Given the description of an element on the screen output the (x, y) to click on. 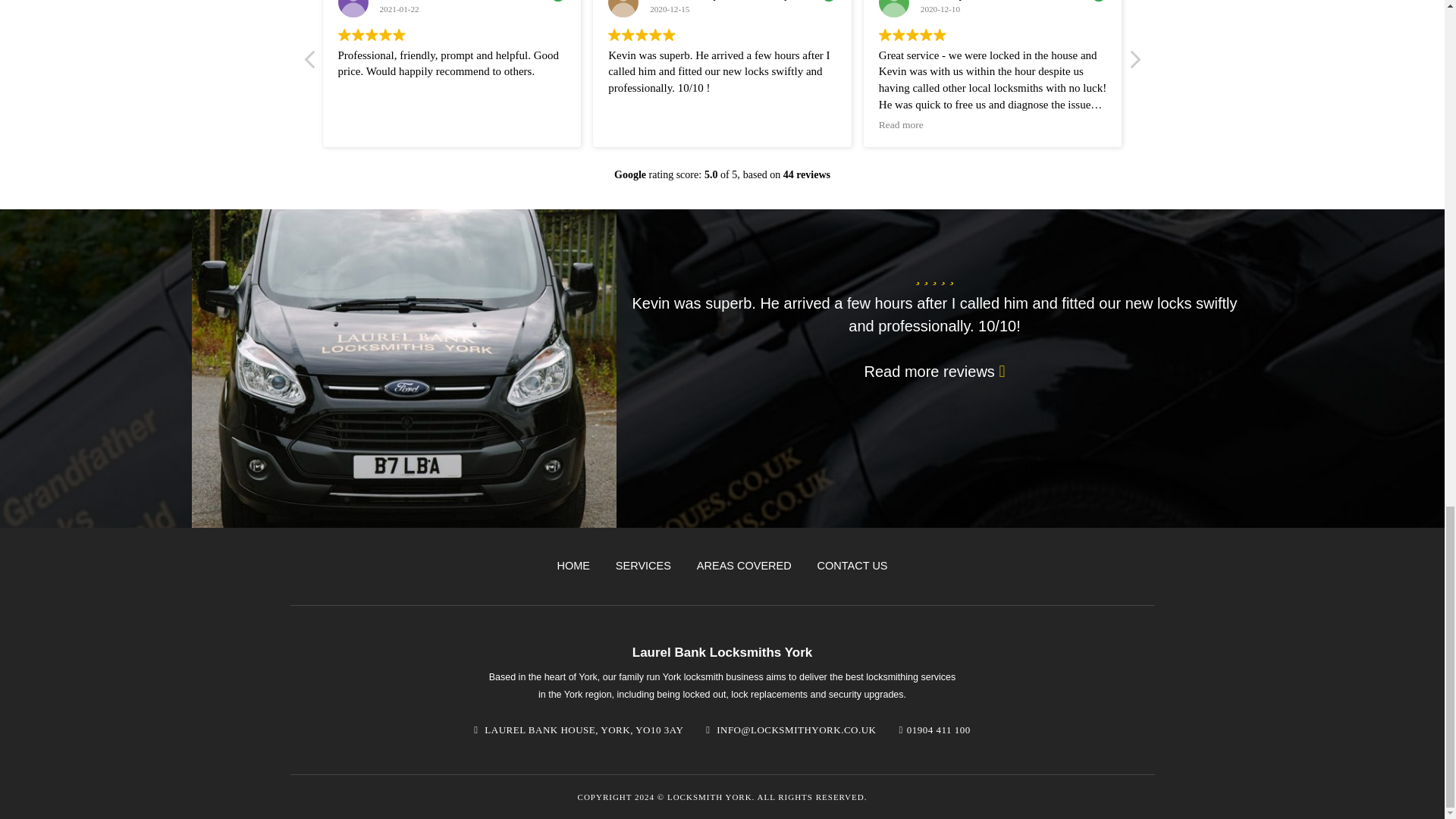
Read more reviews (935, 371)
